Given the description of an element on the screen output the (x, y) to click on. 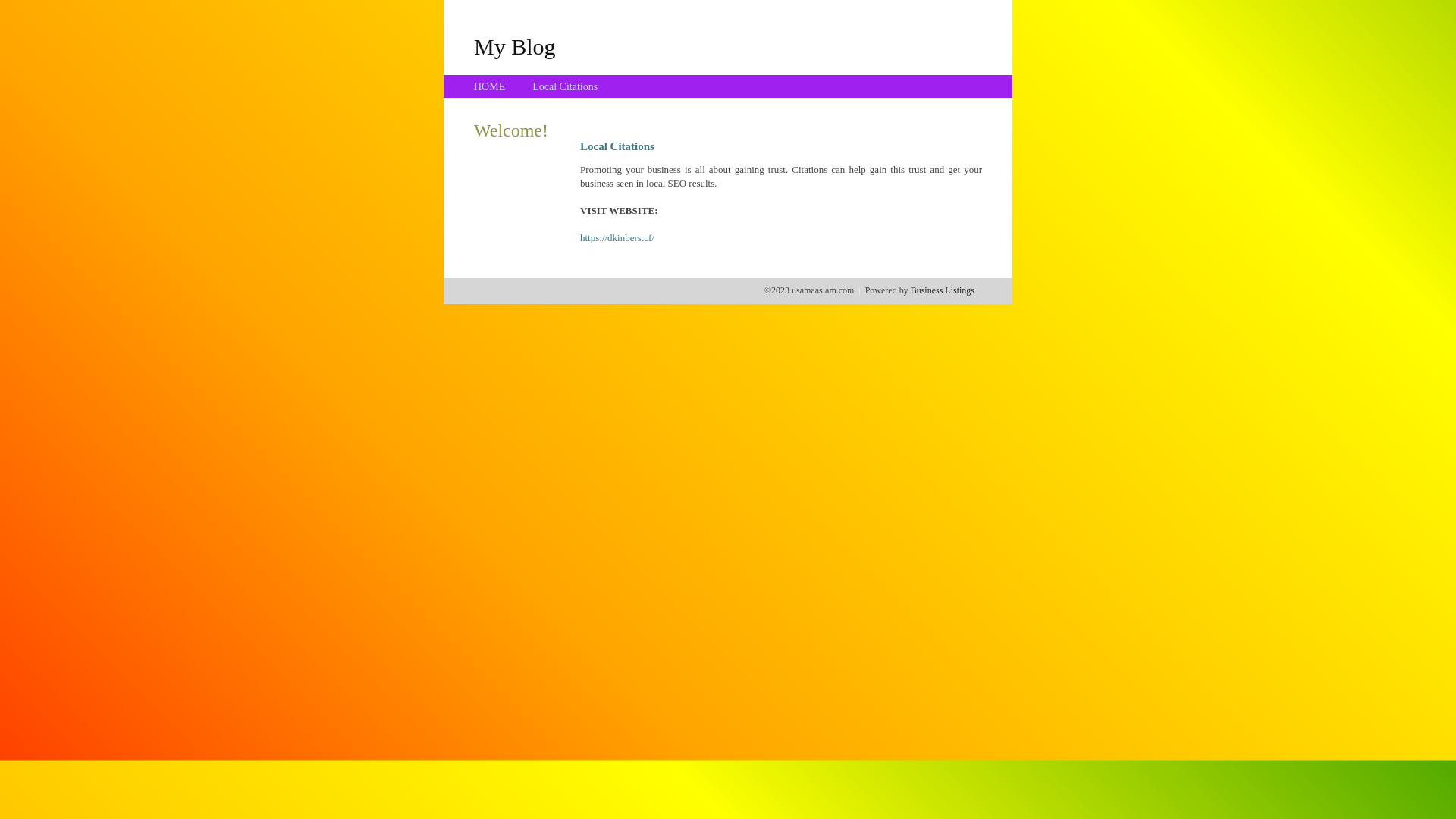
Local Citations Element type: text (564, 86)
Business Listings Element type: text (942, 290)
My Blog Element type: text (514, 46)
HOME Element type: text (489, 86)
https://dkinbers.cf/ Element type: text (617, 237)
